Given the description of an element on the screen output the (x, y) to click on. 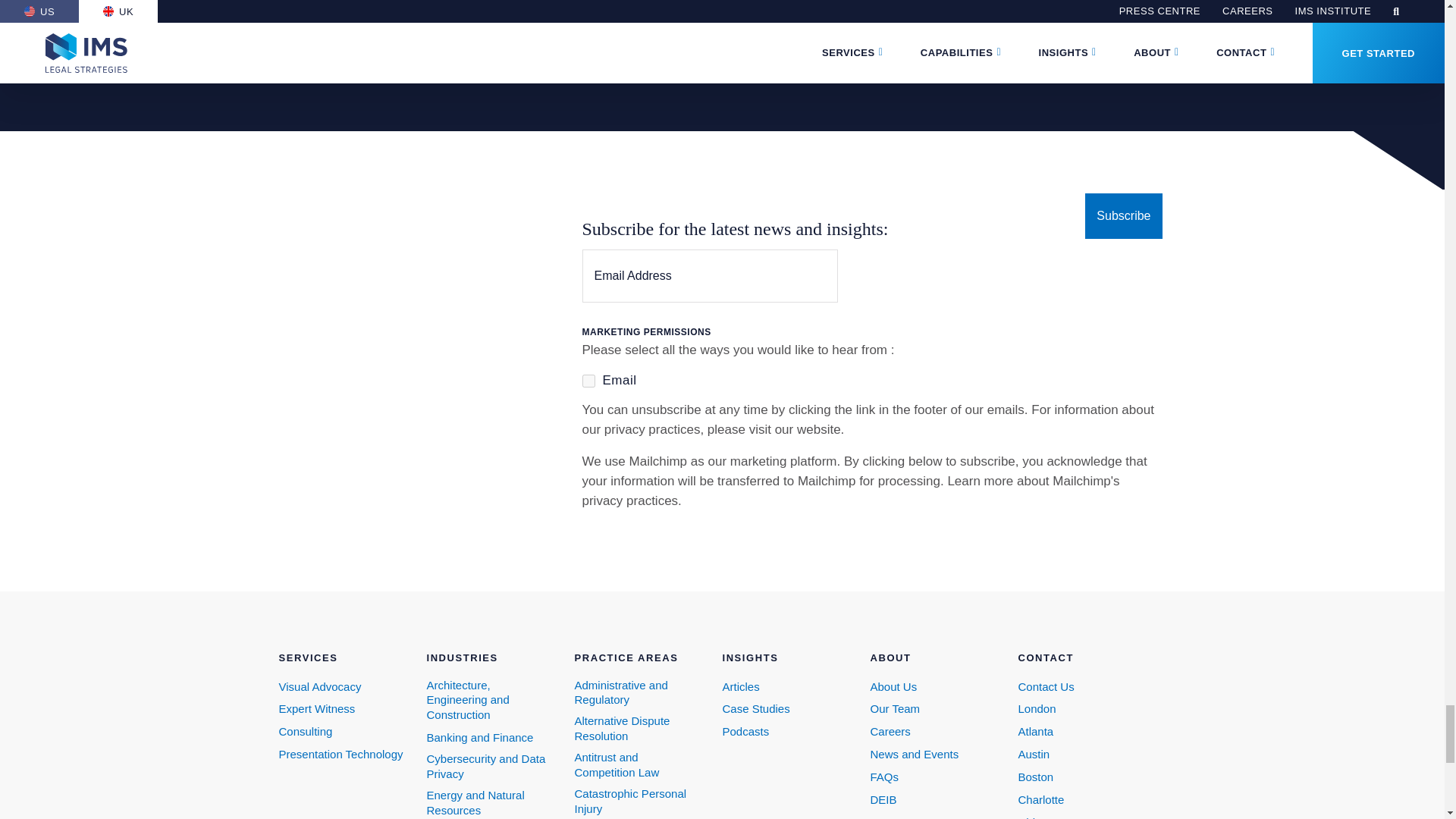
Subscribe (1122, 216)
Y (588, 380)
